Given the description of an element on the screen output the (x, y) to click on. 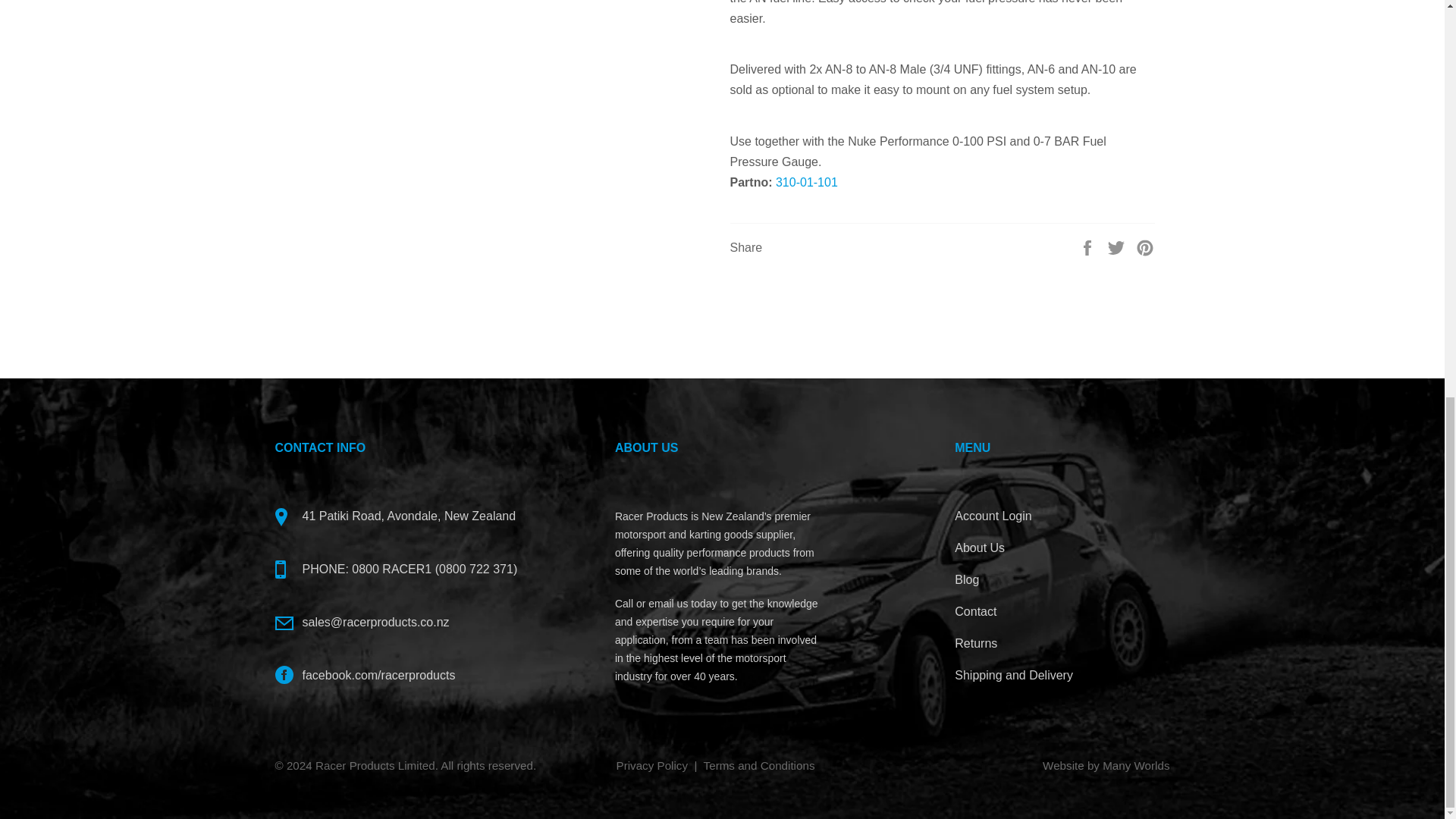
Share on Facebook (1088, 246)
Pin on Pinterest (1144, 246)
Tweet on Twitter (1117, 246)
